Given the description of an element on the screen output the (x, y) to click on. 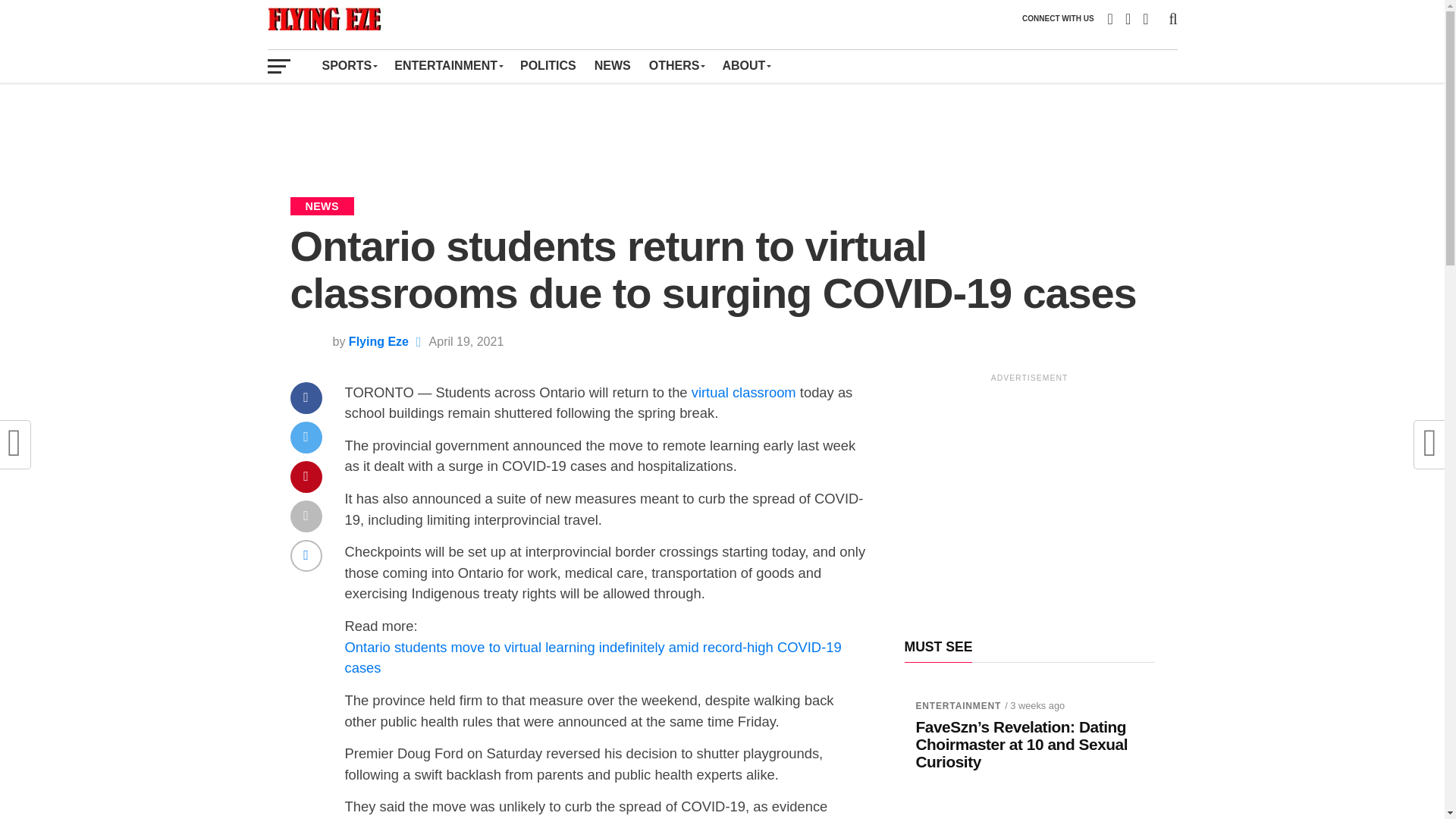
SPORTS (349, 65)
POLITICS (548, 65)
NEWS (612, 65)
OTHERS (676, 65)
Posts by Flying Eze (379, 341)
ENTERTAINMENT (448, 65)
ABOUT (745, 65)
